Given the description of an element on the screen output the (x, y) to click on. 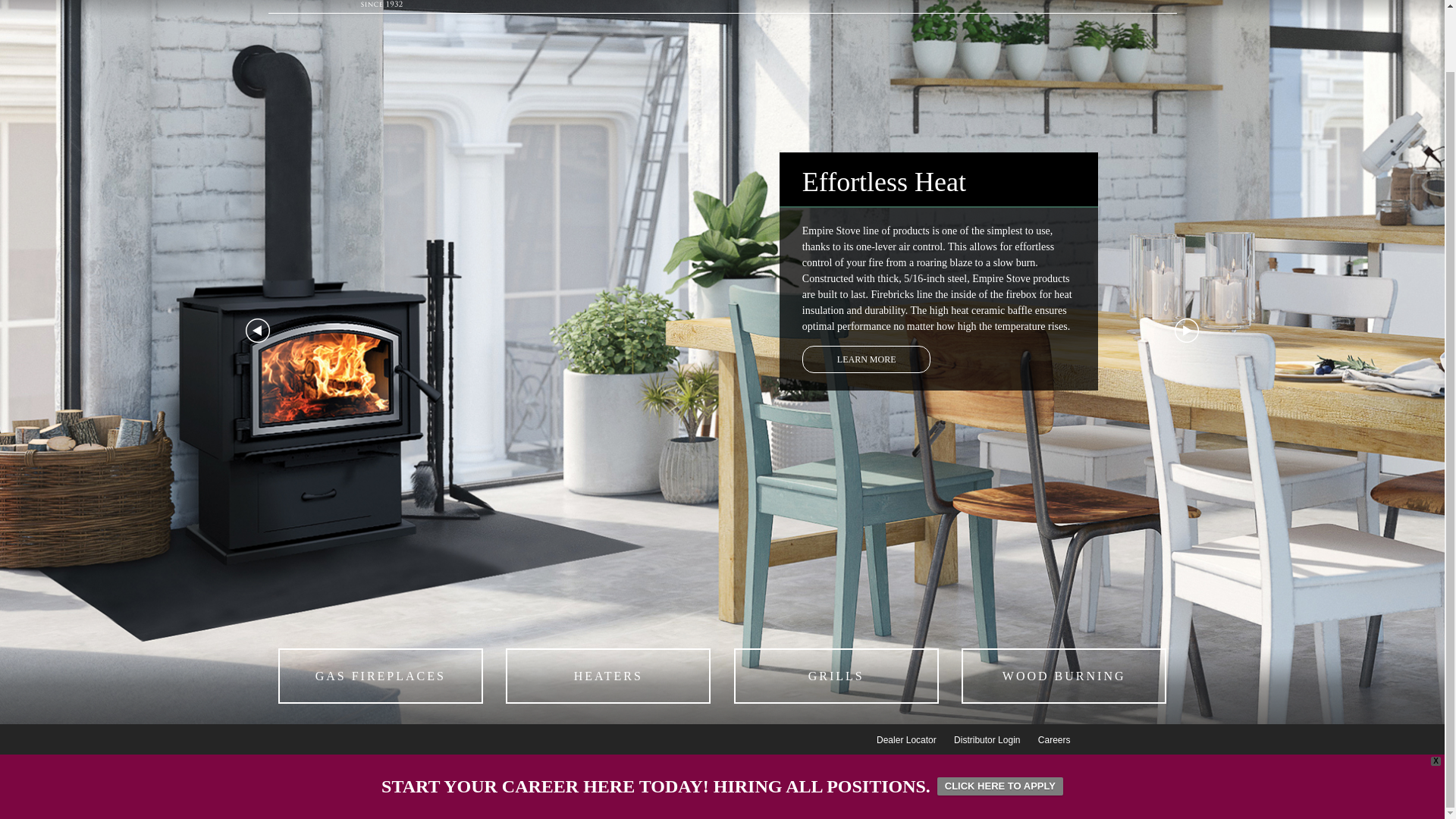
Previous (257, 330)
GAS FIREPLACES (380, 675)
GRILLS (836, 675)
WOOD BURNING (1063, 675)
Empire Comfort Systems (381, 4)
HEATERS (607, 675)
Next (1186, 330)
LEARN MORE (866, 359)
